Given the description of an element on the screen output the (x, y) to click on. 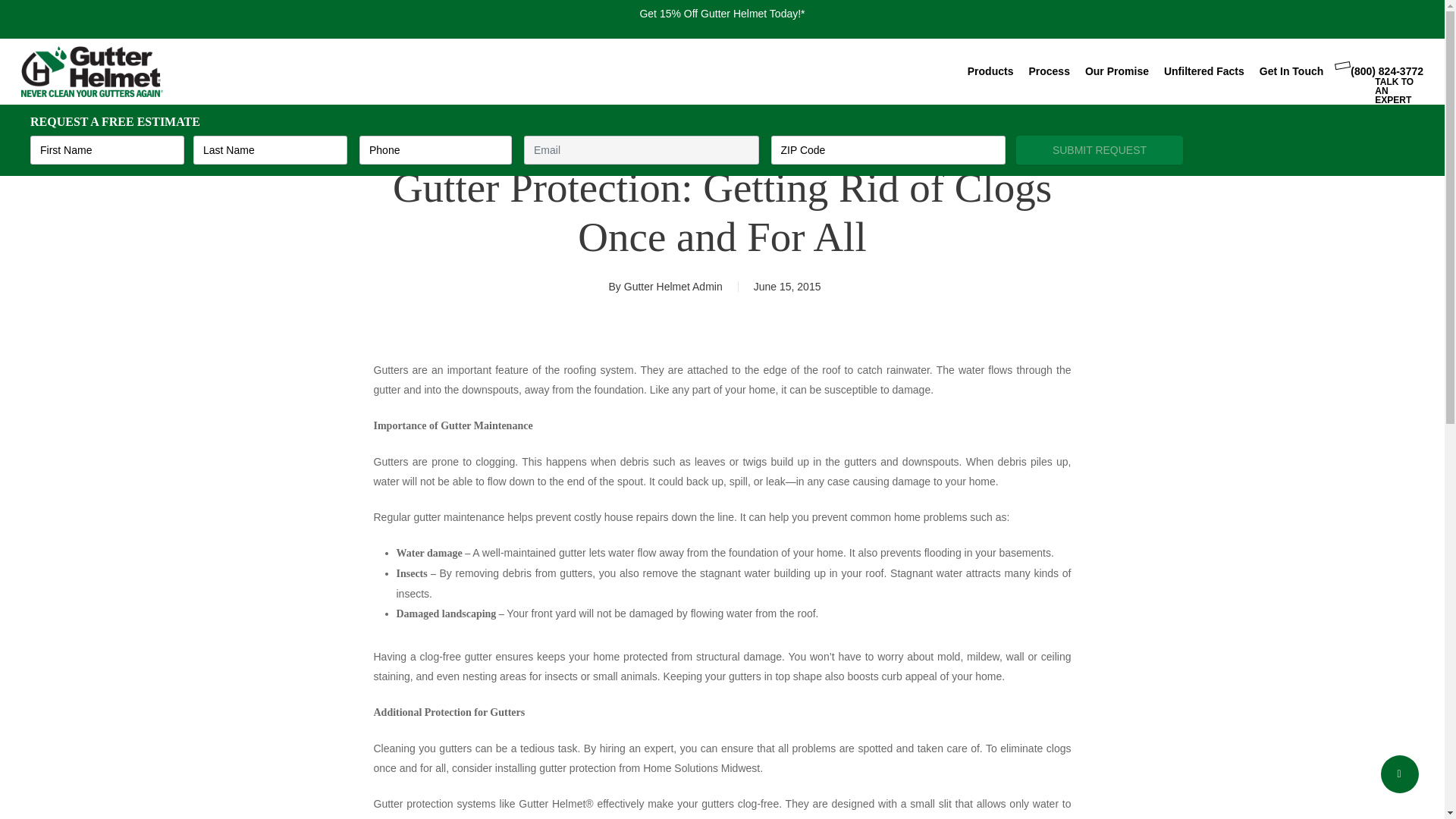
SUBMIT REQUEST (1099, 149)
Process (1047, 70)
Products (990, 70)
Our Promise (1116, 70)
Get In Touch (1291, 70)
SUBMIT REQUEST (1099, 149)
Uncategorized (826, 136)
Gutter Helmet Admin (673, 286)
Posts by Gutter Helmet Admin (673, 286)
Unfiltered Facts (1203, 70)
Home Solutions Midwest Albert Lea (676, 136)
